Given the description of an element on the screen output the (x, y) to click on. 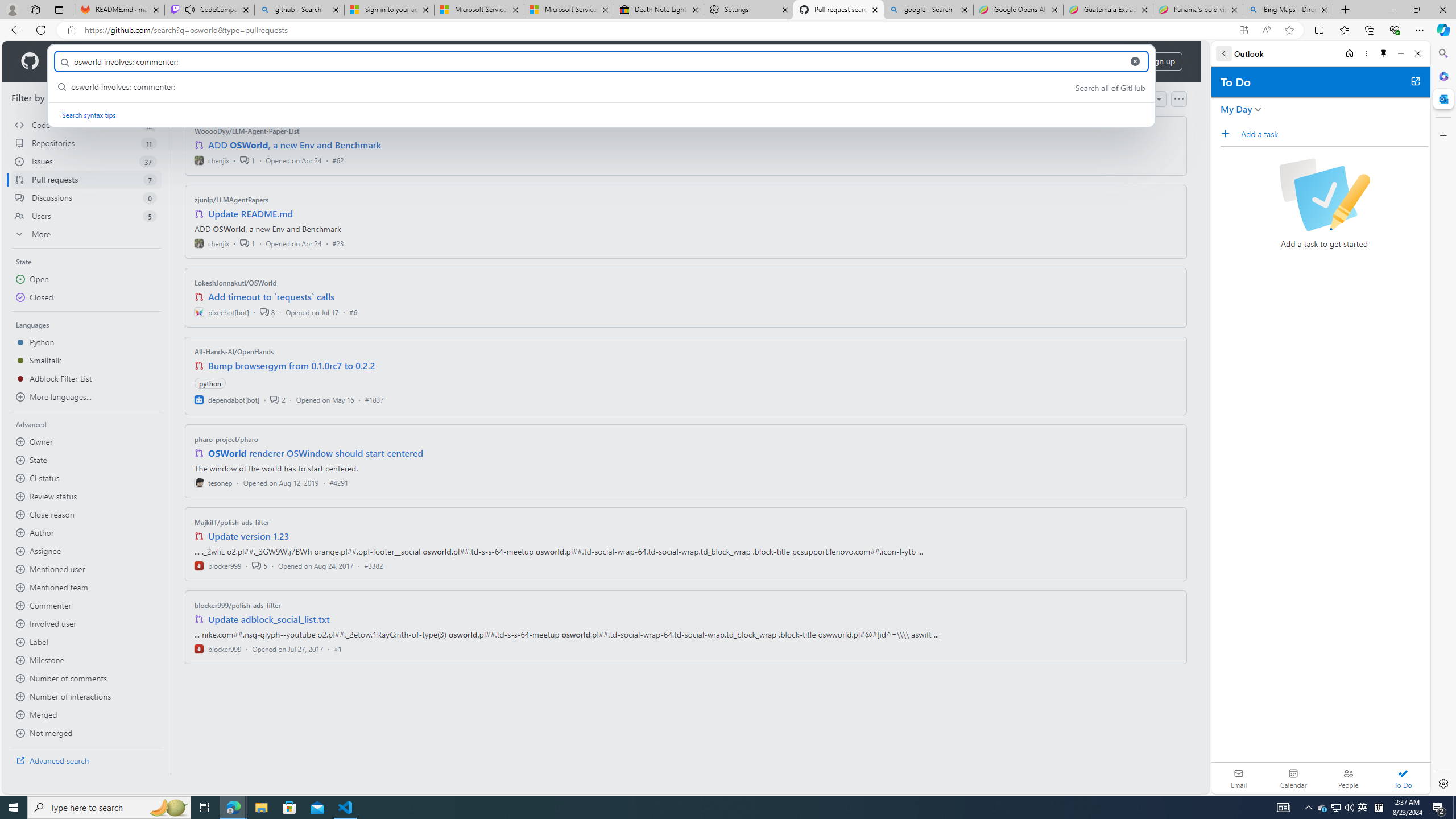
Product (74, 60)
Update README.md (250, 213)
zjunlp/LLMAgentPapers (232, 199)
chenjix (211, 242)
2 (277, 398)
#3382 (373, 565)
